Given the description of an element on the screen output the (x, y) to click on. 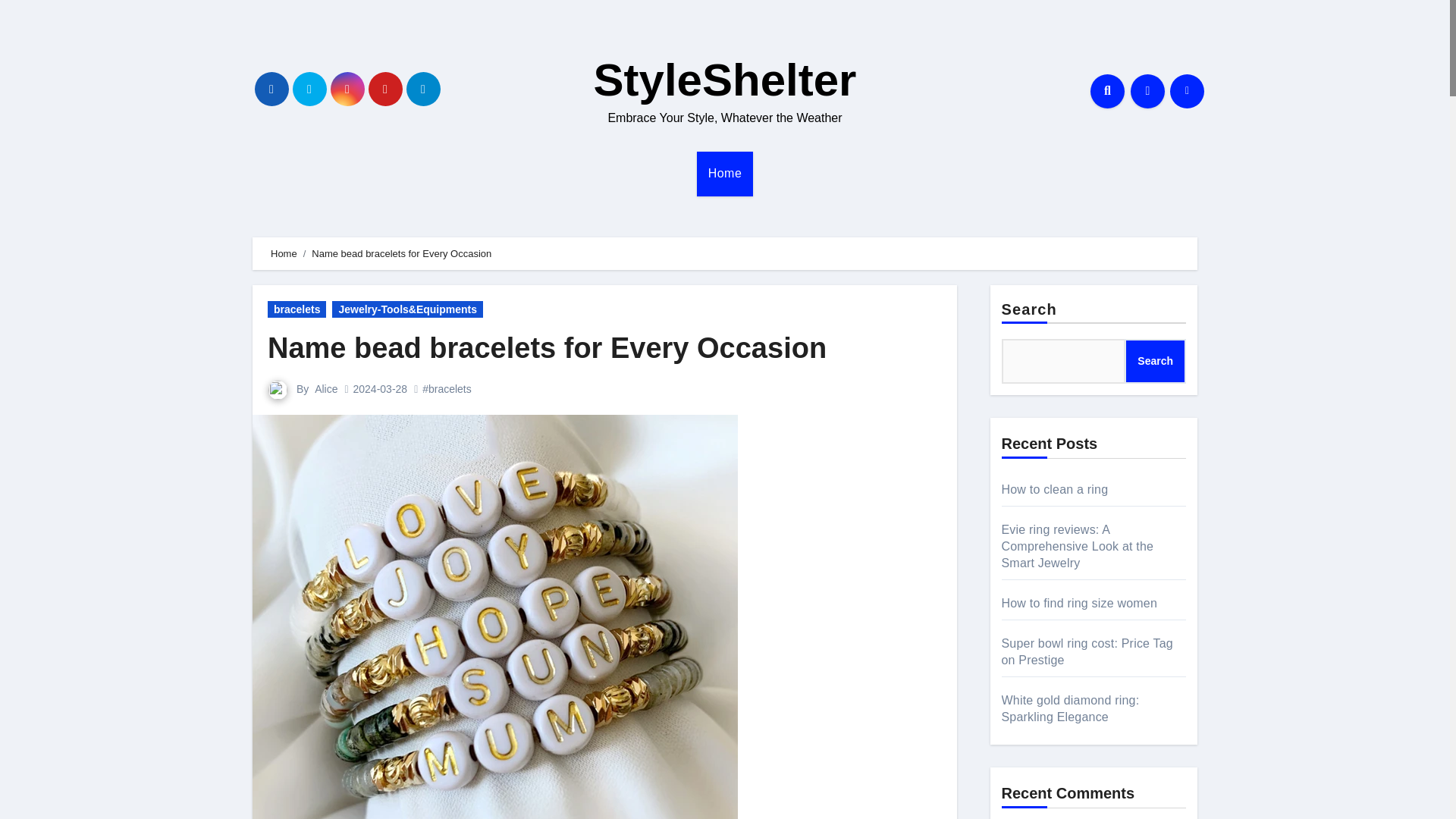
StyleShelter (725, 79)
Alice (325, 388)
Home (725, 173)
Home (283, 253)
bracelets (296, 309)
Name bead bracelets for Every Occasion (547, 347)
2024-03-28 (380, 388)
Home (725, 173)
Permalink to: Name bead bracelets for Every Occasion (547, 347)
